Given the description of an element on the screen output the (x, y) to click on. 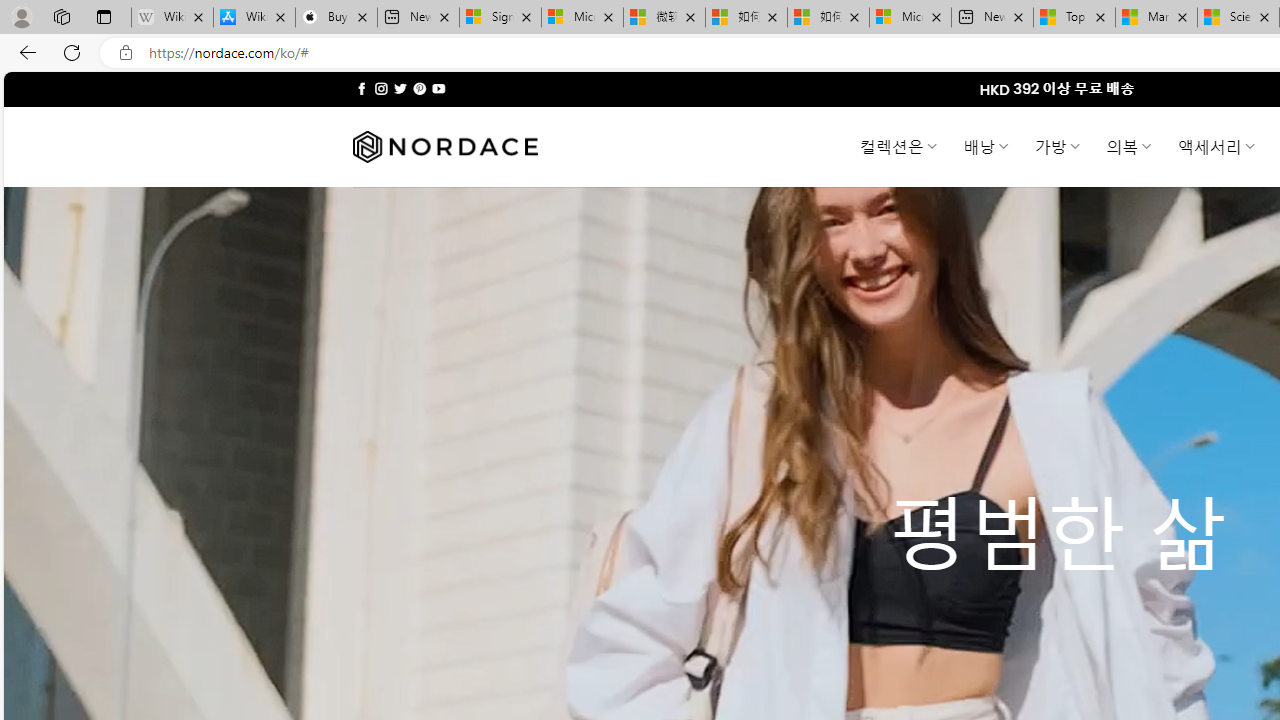
Follow on Pinterest (419, 88)
Follow on Instagram (381, 88)
Follow on YouTube (438, 88)
Follow on Facebook (361, 88)
